Given the description of an element on the screen output the (x, y) to click on. 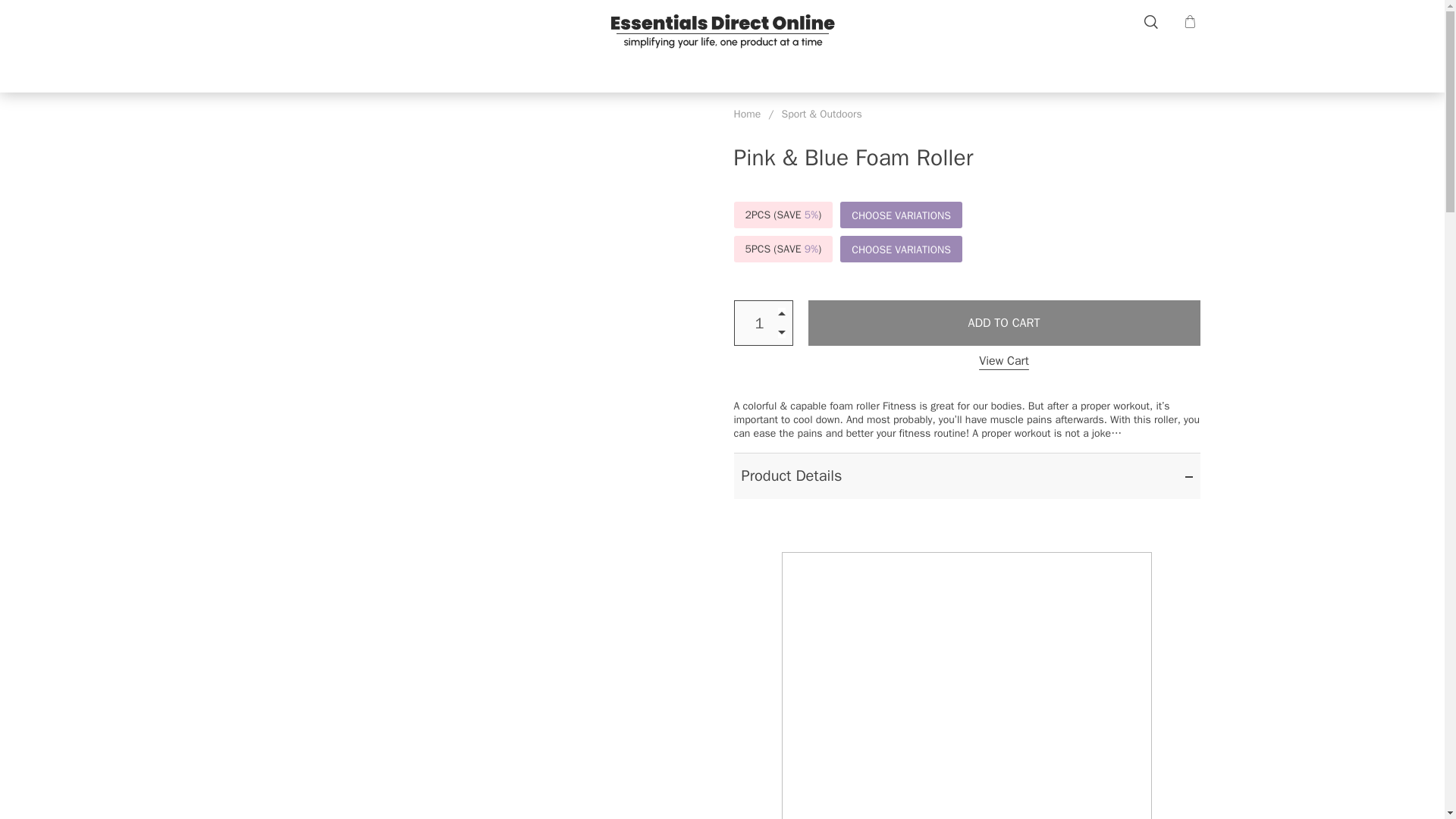
1-min - 2021-09-02T133705.665 (966, 685)
1 (763, 322)
ADD TO CART (1003, 322)
Home (747, 114)
